Given the description of an element on the screen output the (x, y) to click on. 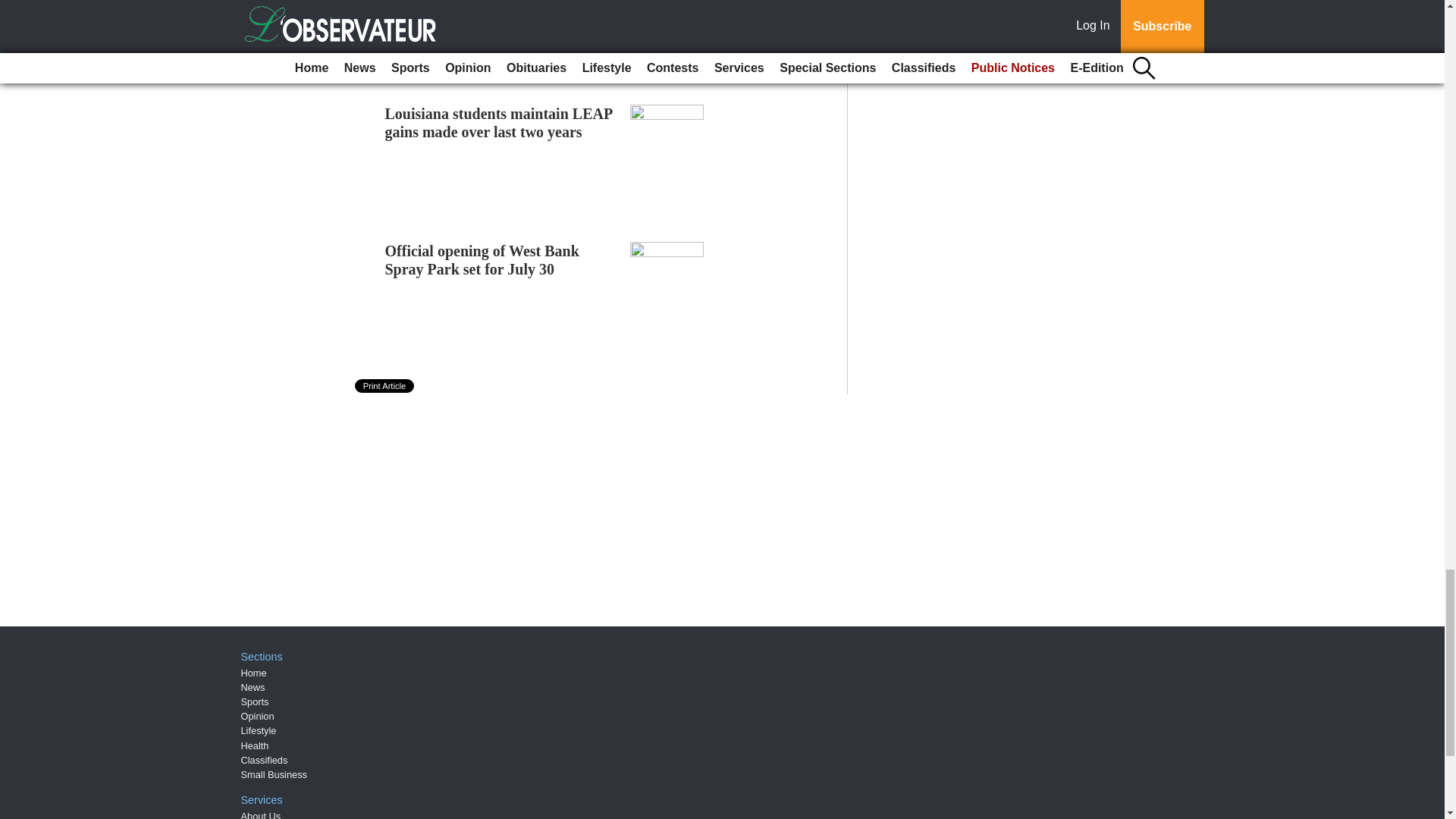
Official opening of West Bank Spray Park set for July 30 (482, 259)
Official opening of West Bank Spray Park set for July 30 (482, 259)
Print Article (384, 386)
